Given the description of an element on the screen output the (x, y) to click on. 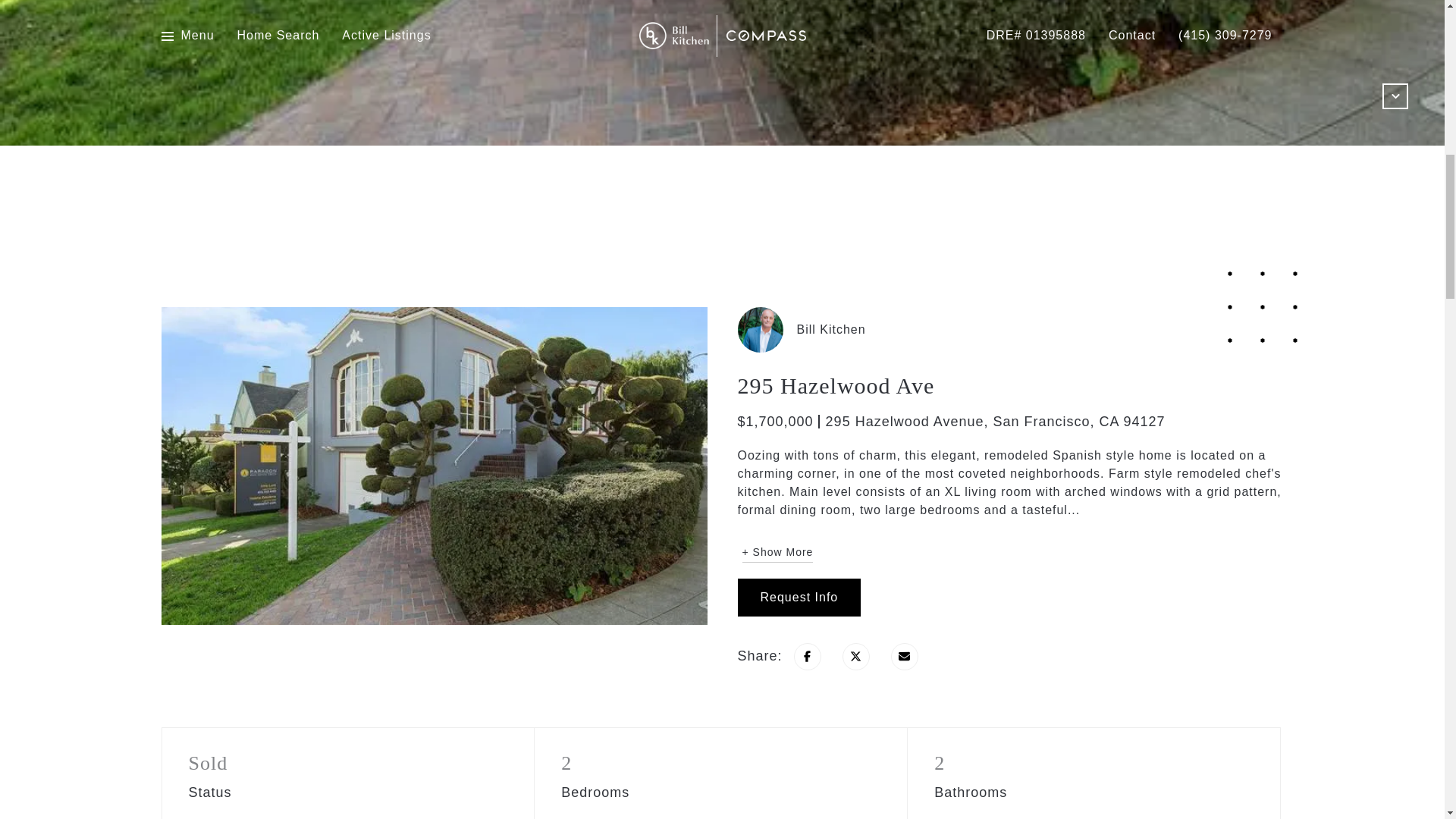
Request Info (798, 597)
